Given the description of an element on the screen output the (x, y) to click on. 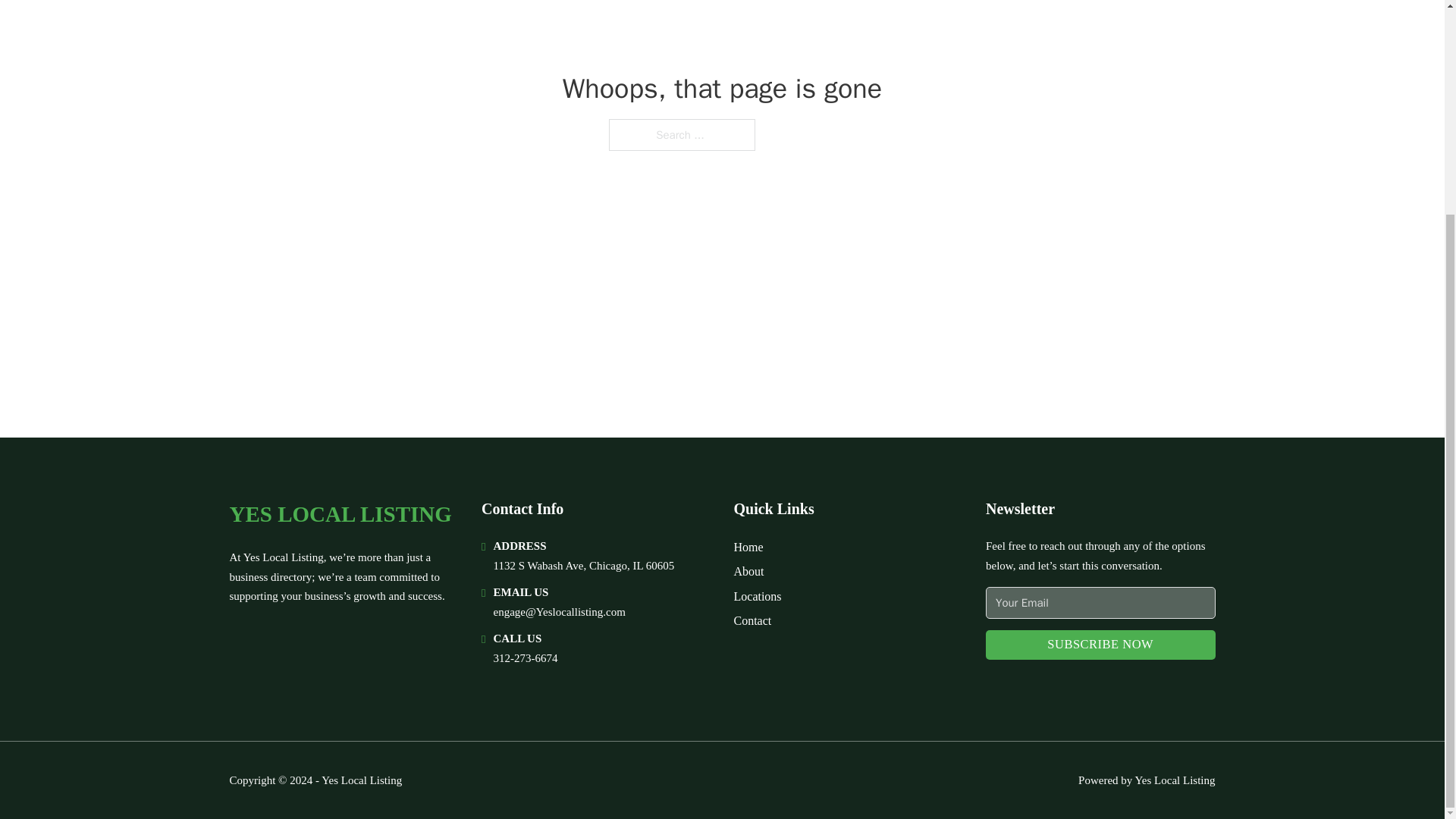
Contact (752, 620)
Home (747, 547)
SUBSCRIBE NOW (1100, 644)
312-273-6674 (525, 657)
Locations (757, 596)
About (748, 571)
YES LOCAL LISTING (339, 514)
